Given the description of an element on the screen output the (x, y) to click on. 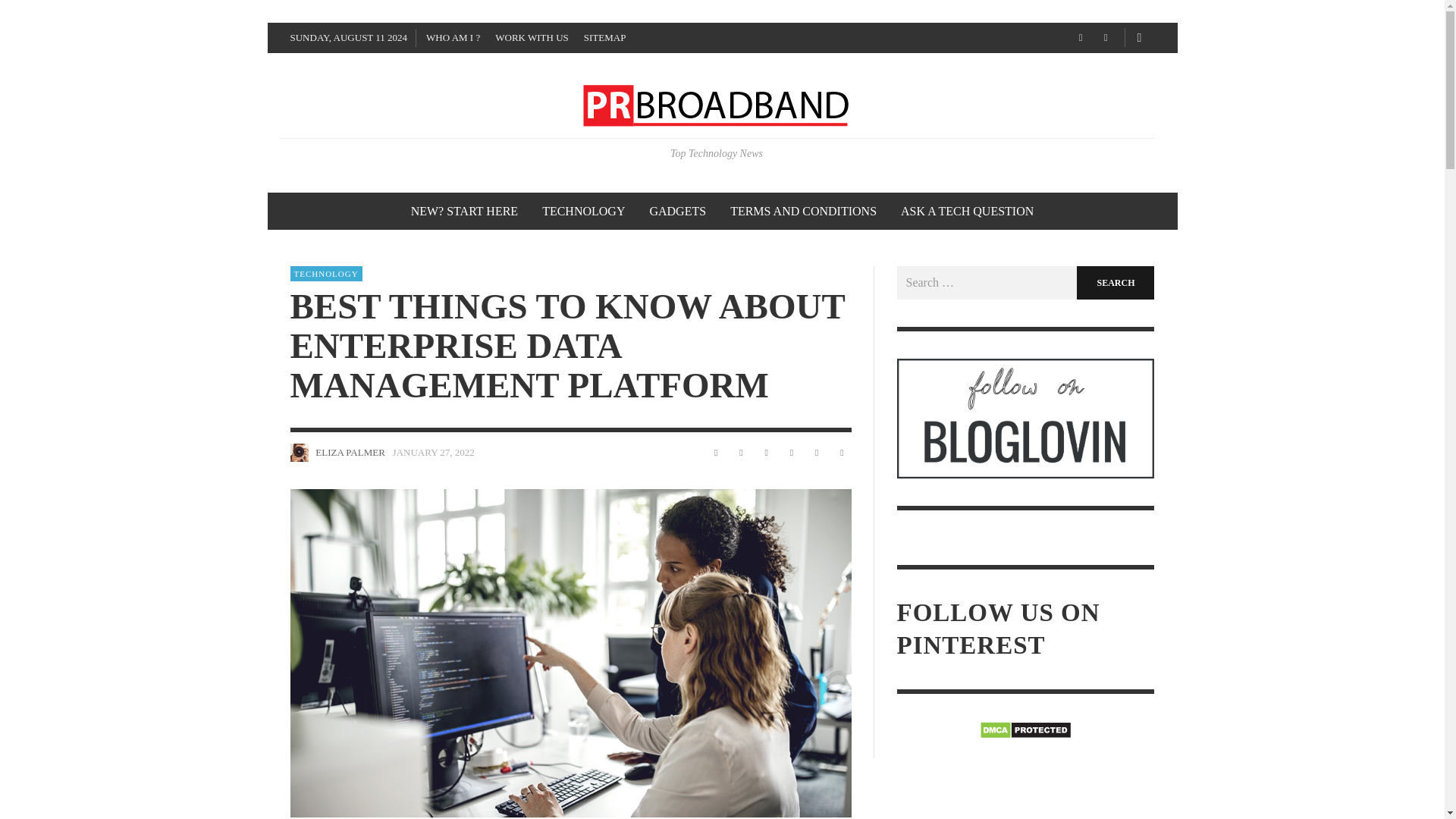
TERMS AND CONDITIONS (802, 211)
ASK A TECH QUESTION (966, 211)
WHO AM I ? (453, 37)
Top Technology News (716, 129)
Search (1115, 282)
TECHNOLOGY (325, 273)
GADGETS (677, 211)
ELIZA PALMER (350, 451)
